Given the description of an element on the screen output the (x, y) to click on. 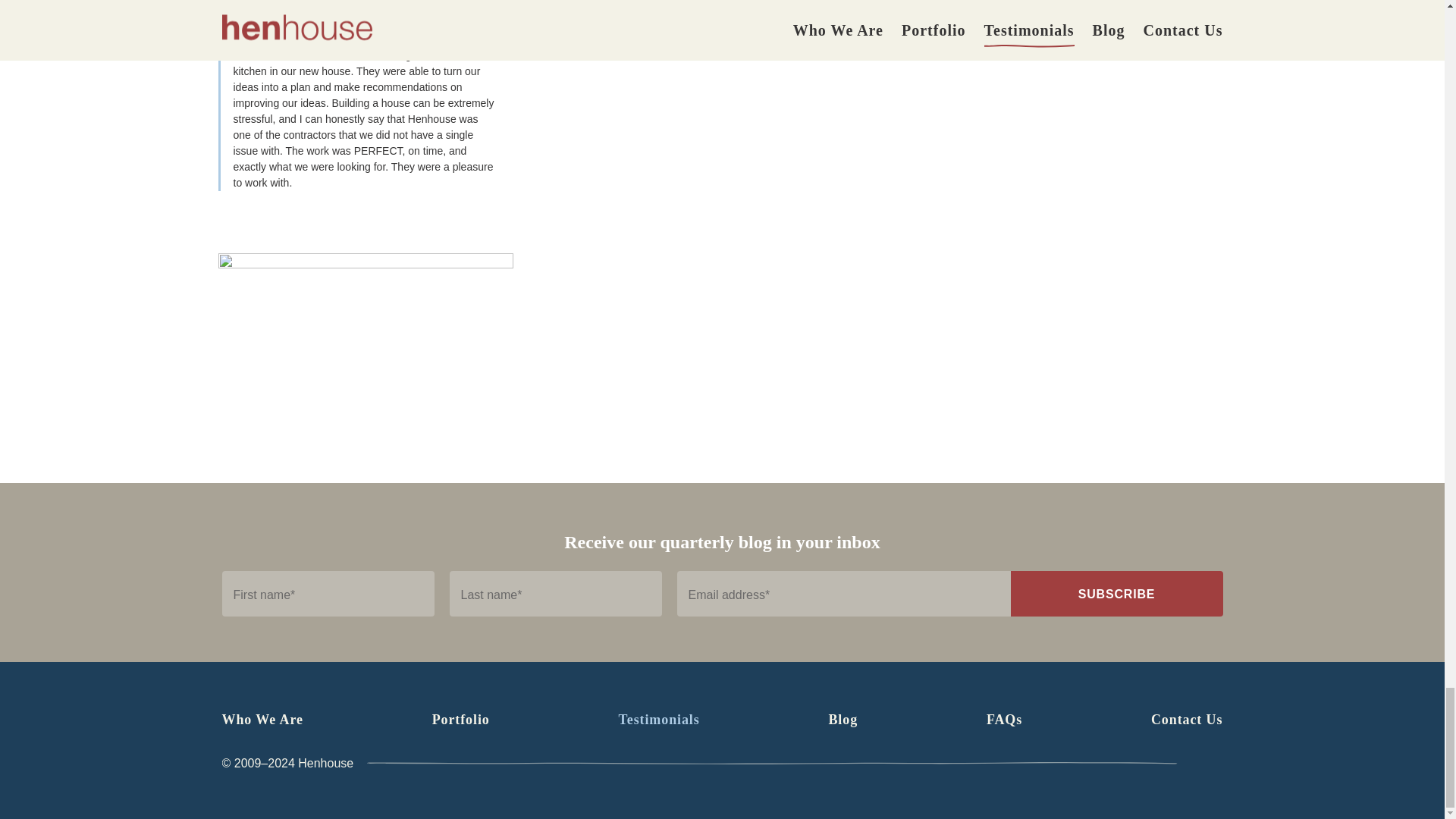
Testimonials (659, 719)
Subscribe (1116, 593)
Blog (842, 719)
Contact Us (1187, 719)
FAQs (1004, 719)
Portfolio (460, 719)
Subscribe (1116, 593)
Who We Are (261, 719)
